Given the description of an element on the screen output the (x, y) to click on. 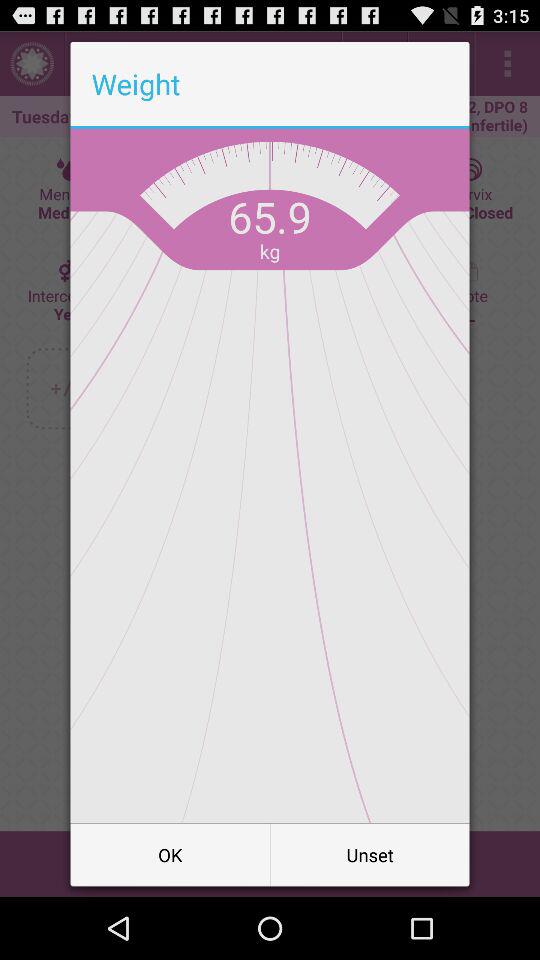
launch button to the left of unset item (170, 854)
